Given the description of an element on the screen output the (x, y) to click on. 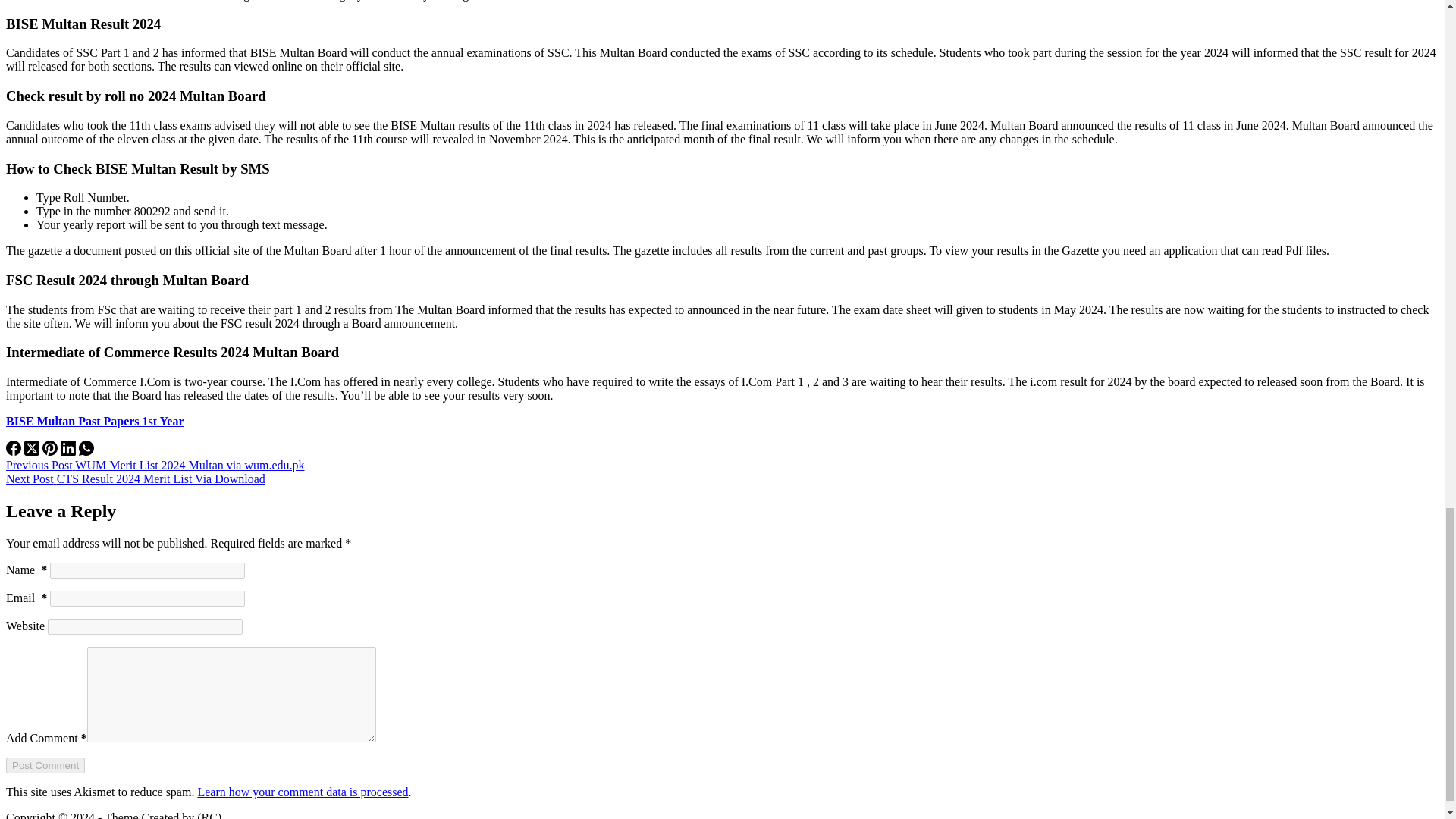
BISE Multan Past Papers 1st Year (94, 420)
Post Comment (44, 765)
Learn how your comment data is processed (301, 791)
